Given the description of an element on the screen output the (x, y) to click on. 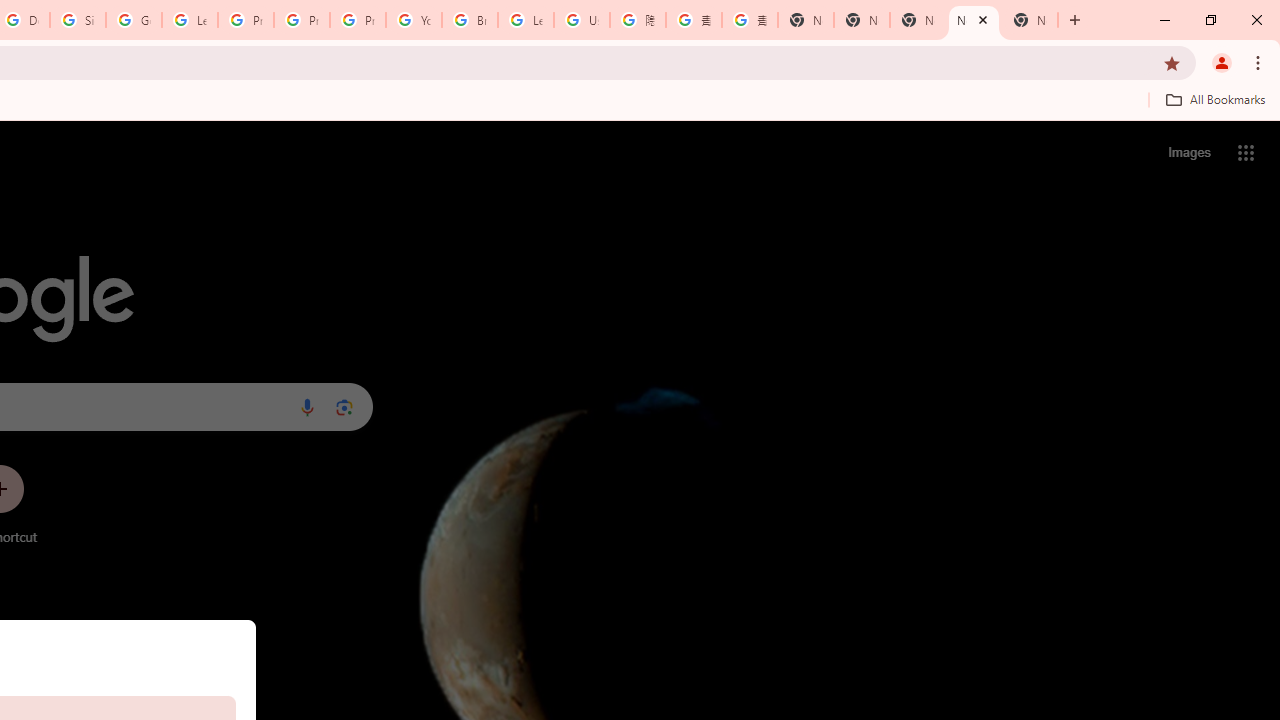
Privacy Help Center - Policies Help (301, 20)
Sign in - Google Accounts (77, 20)
